Given the description of an element on the screen output the (x, y) to click on. 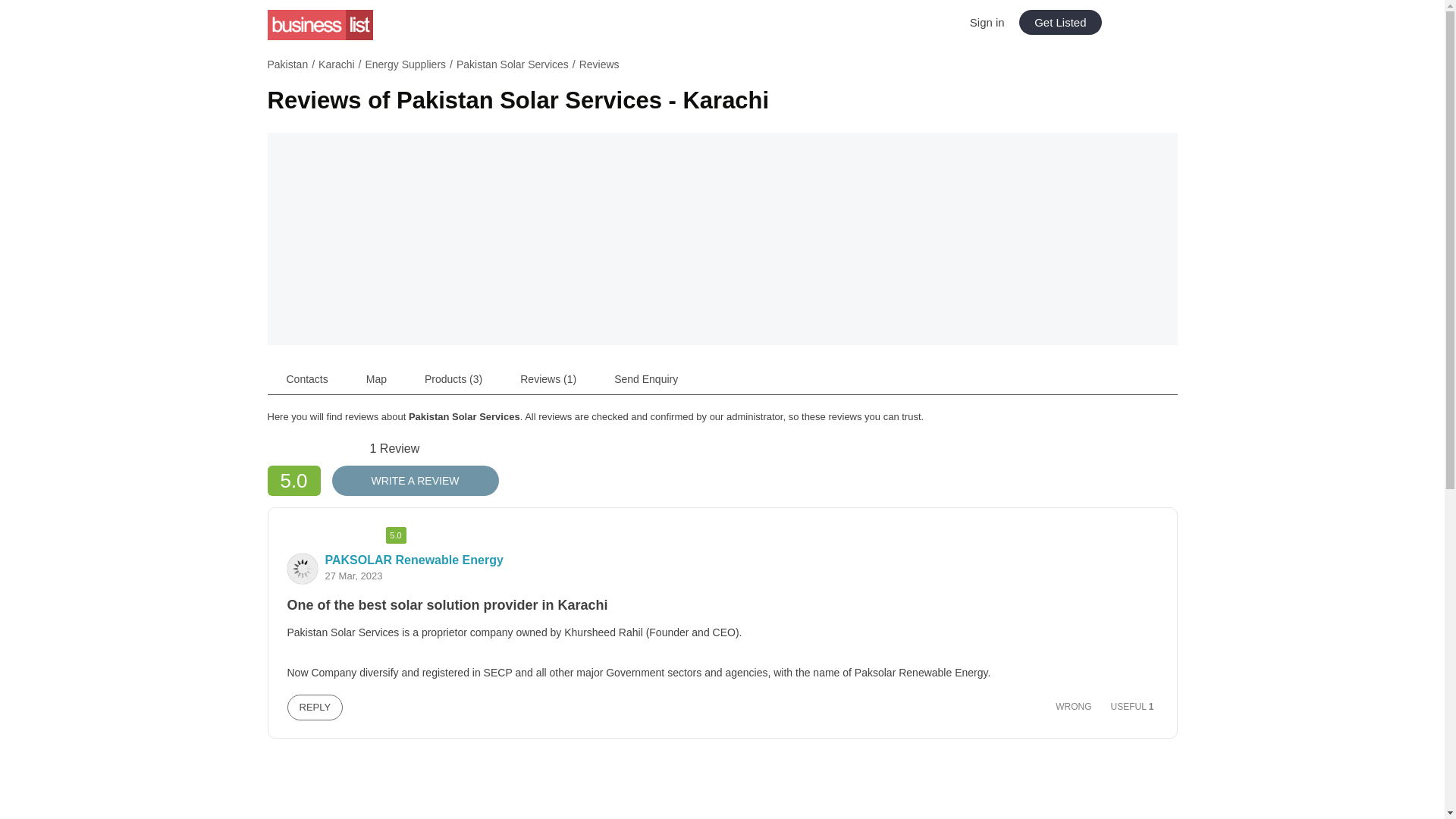
Get Listed (1059, 22)
Energy Suppliers (405, 64)
Pakistan Solar Services (513, 64)
Pakistan (286, 64)
Pakistan Business Directory - BusinessList.pk (319, 24)
WRITE A REVIEW (415, 481)
Contacts (306, 378)
REPLY (314, 707)
Sign in (986, 21)
Pakistan Business Directory - BusinessList.pk (319, 24)
